Given the description of an element on the screen output the (x, y) to click on. 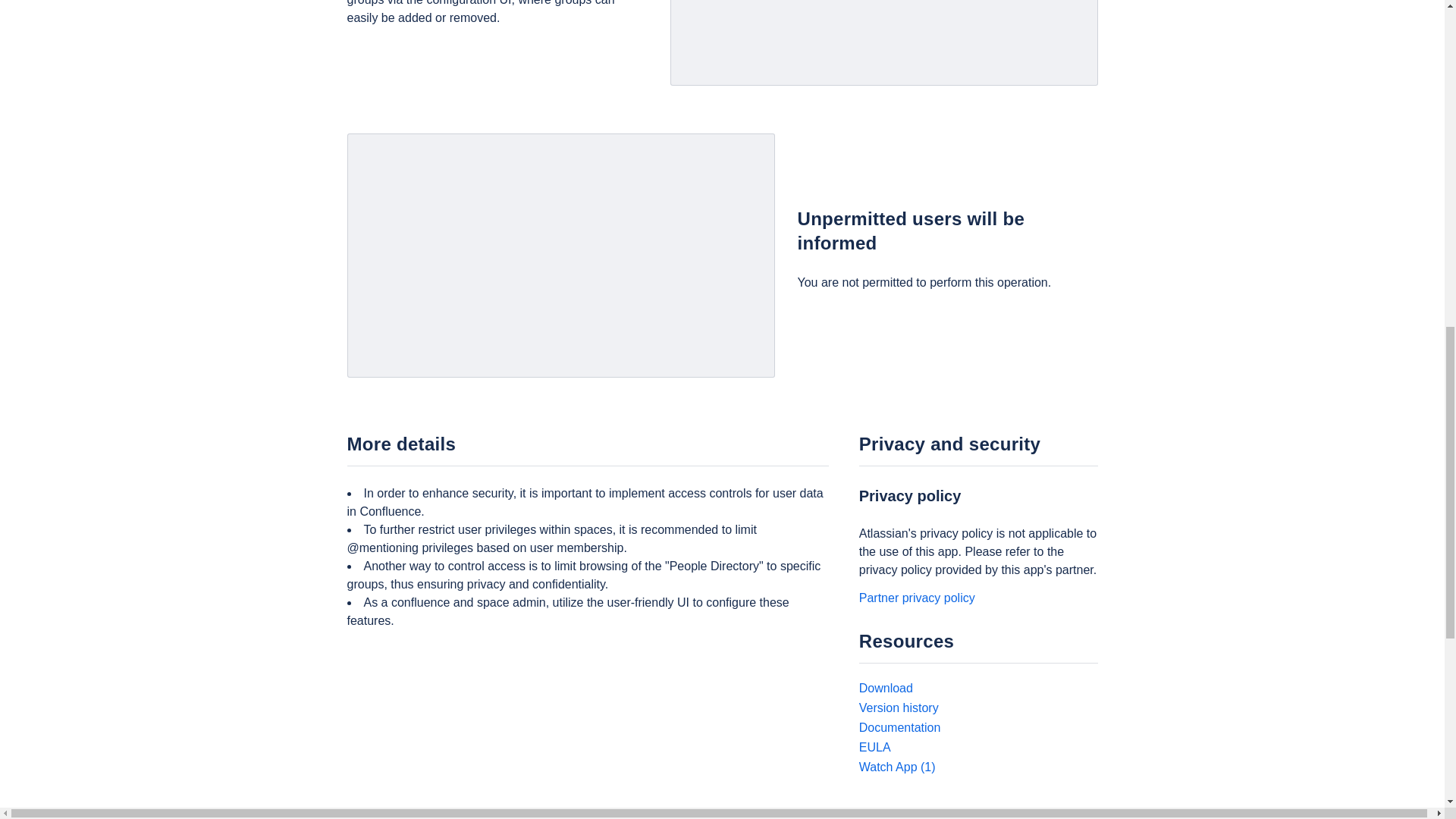
Version history (899, 707)
Download (885, 687)
Partner privacy policy (917, 597)
EULA (875, 747)
Documentation (899, 727)
